Given the description of an element on the screen output the (x, y) to click on. 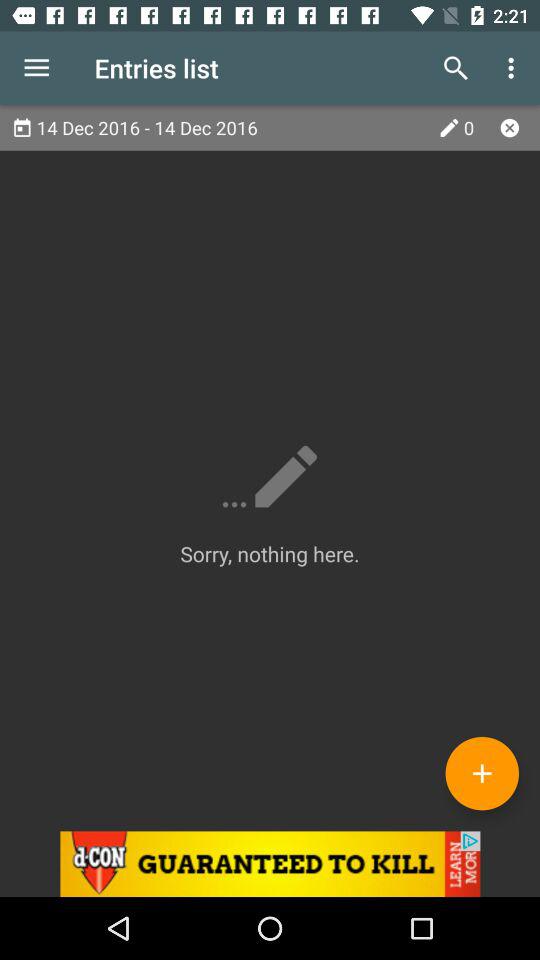
close option (509, 127)
